Given the description of an element on the screen output the (x, y) to click on. 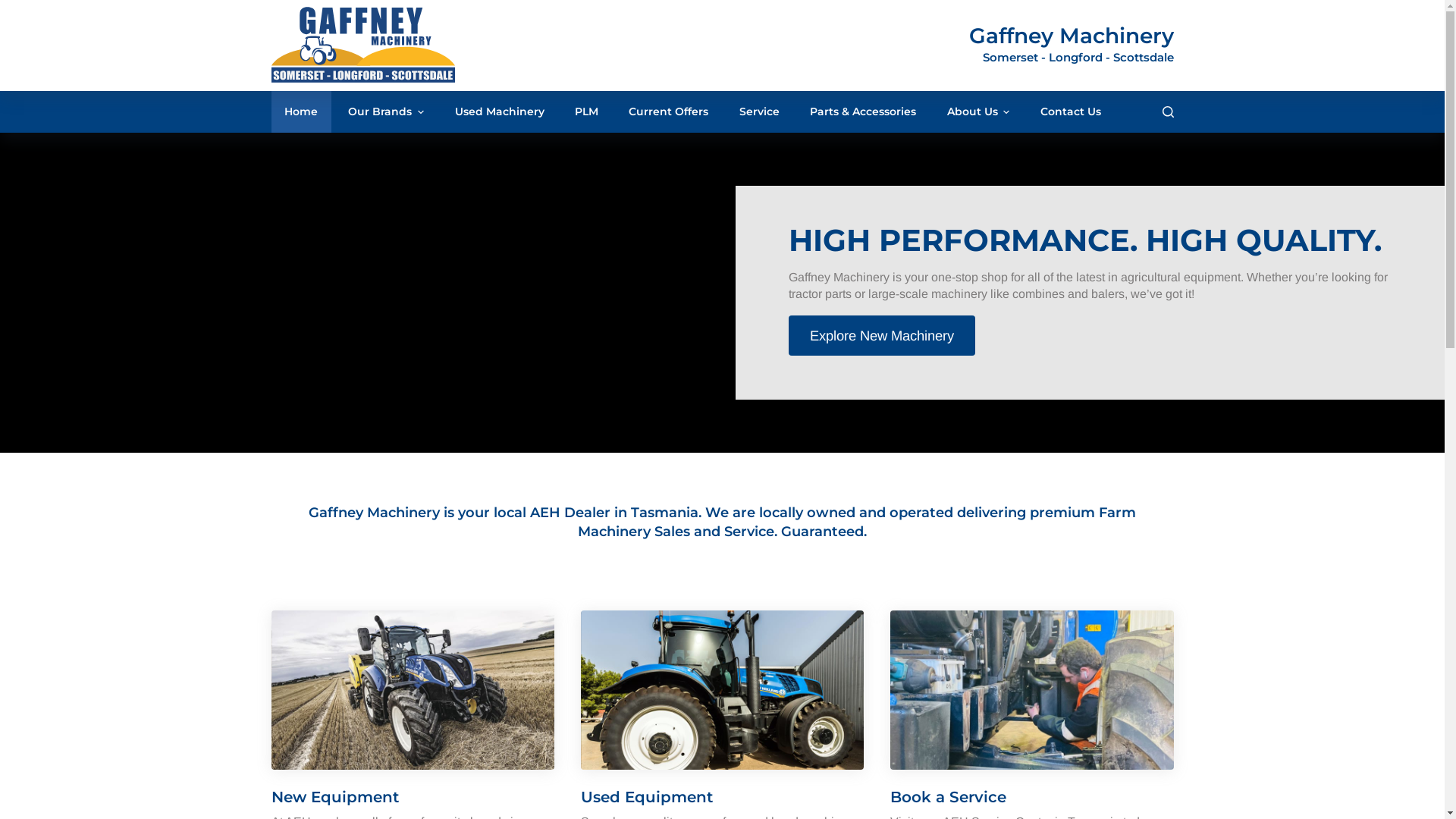
Our Brands Element type: text (386, 111)
Explore New Machinery Element type: text (881, 335)
Home Element type: text (301, 111)
Skip to content Element type: text (15, 7)
About Us Element type: text (977, 111)
Used Machinery Element type: text (499, 111)
Parts & Accessories Element type: text (863, 111)
Service Element type: text (758, 111)
Current Offers Element type: text (668, 111)
Contact Us Element type: text (1069, 111)
PLM Element type: text (586, 111)
